Given the description of an element on the screen output the (x, y) to click on. 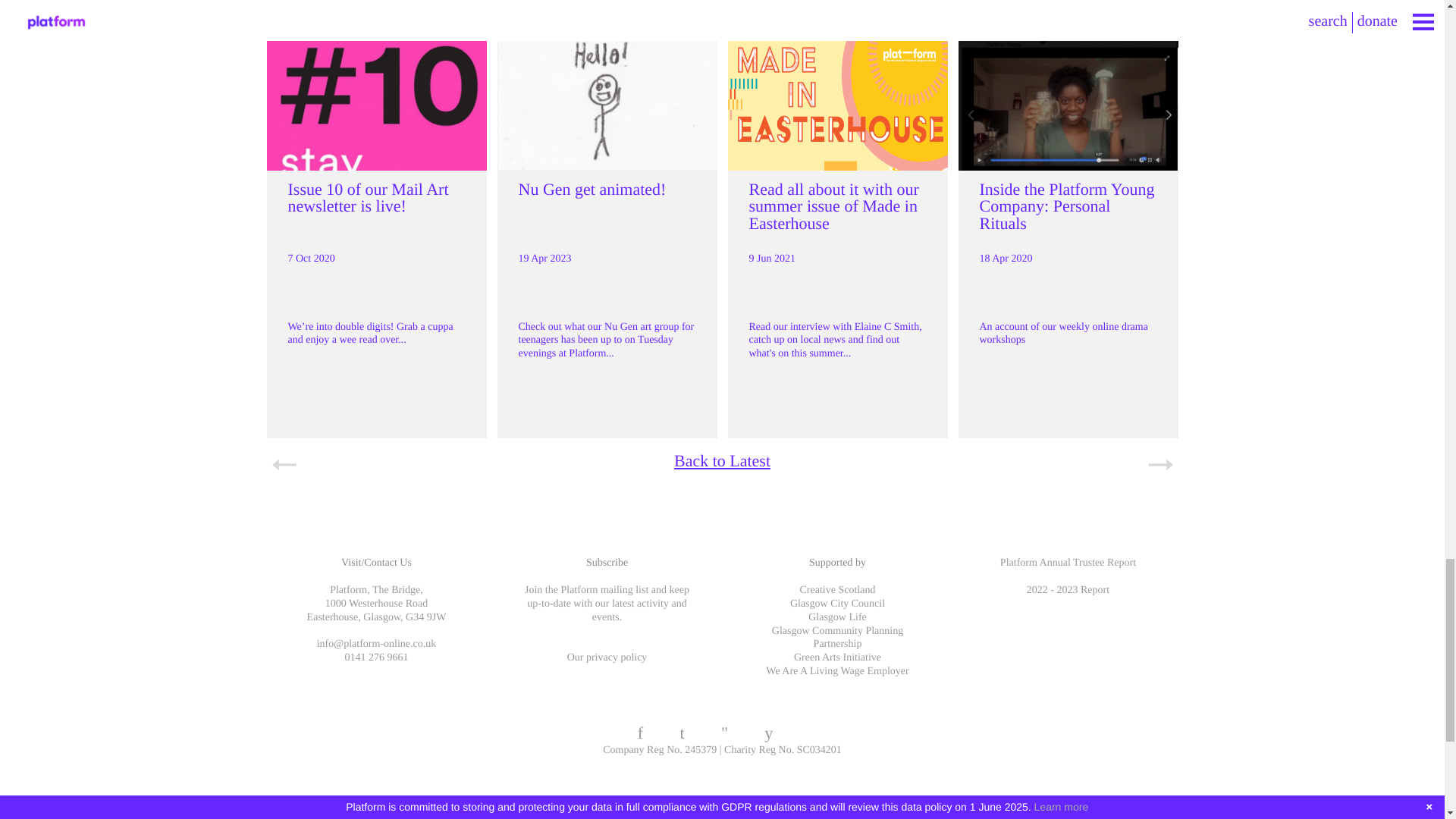
Nu Gen get animated! (592, 189)
Nu Gen get animated! (592, 189)
Issue 10 of our Mail Art newsletter is live! (368, 197)
Issue 10 of our Mail Art newsletter is live! (368, 197)
Latest (721, 2)
Inside the Platform Young Company: Personal Rituals (1066, 206)
Inside the Platform Young Company: Personal Rituals (1066, 206)
